Given the description of an element on the screen output the (x, y) to click on. 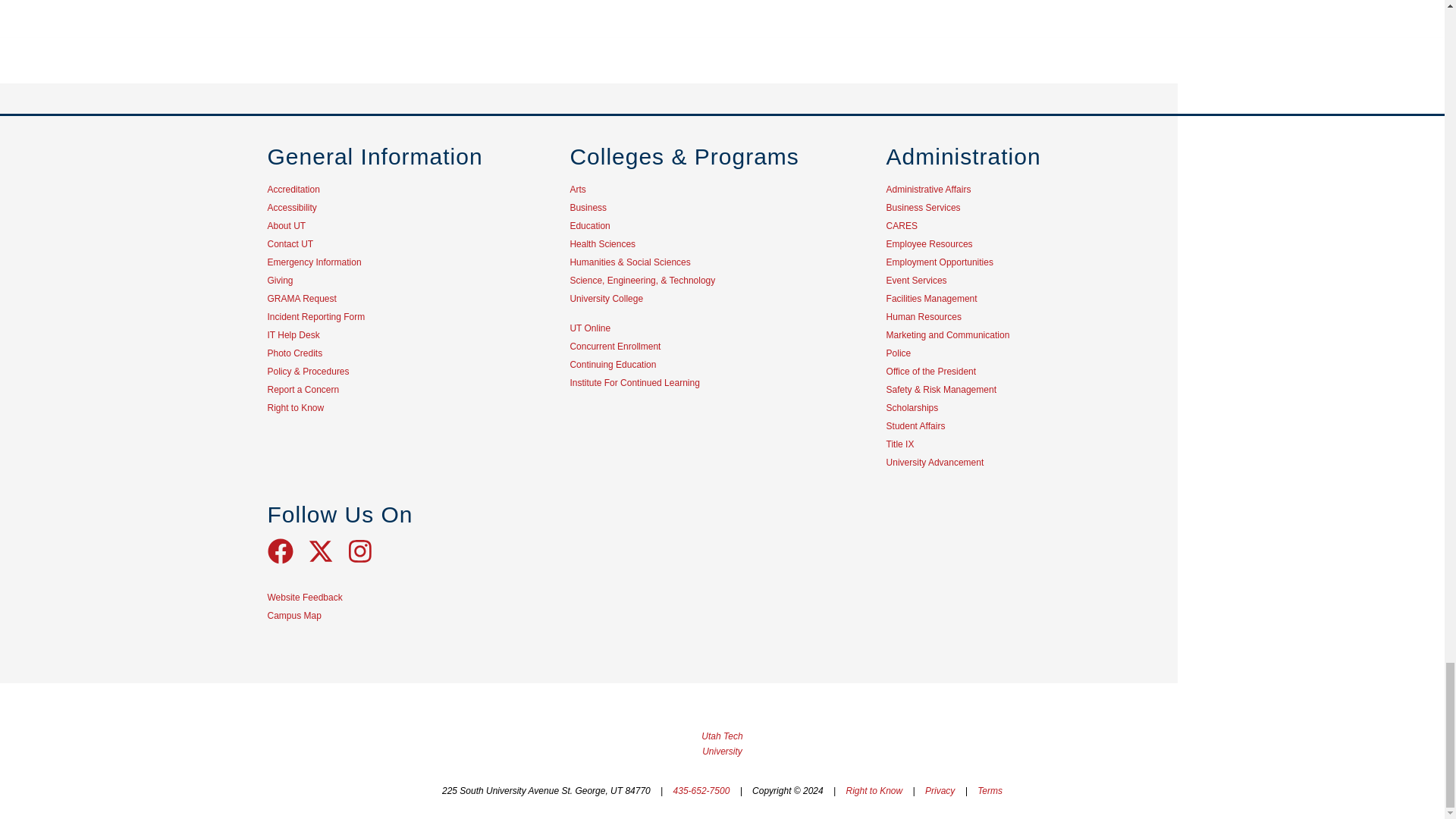
GRAMA Request (301, 298)
Visit our Facebook page (286, 559)
Emergency Information (313, 262)
Visit our Instagram page (365, 559)
Contact UT (289, 244)
Photo Credits (293, 353)
Giving (279, 280)
About UT (285, 225)
Accessibility (290, 207)
